Given the description of an element on the screen output the (x, y) to click on. 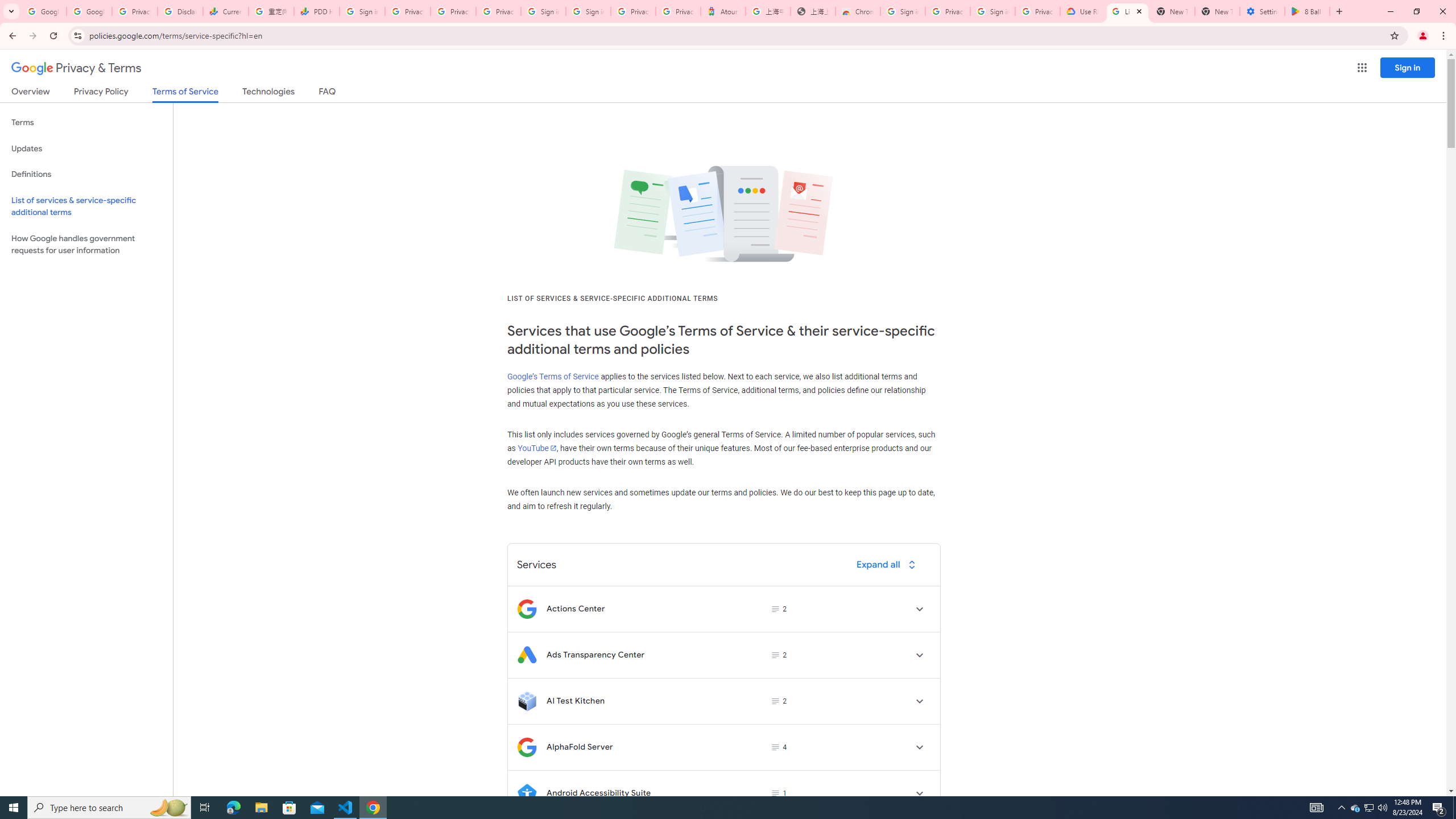
Logo for AI Test Kitchen (526, 700)
Atour Hotel - Google hotels (723, 11)
Privacy Checkup (452, 11)
Settings - System (1262, 11)
Sign in - Google Accounts (902, 11)
Sign in - Google Accounts (362, 11)
8 Ball Pool - Apps on Google Play (1307, 11)
Sign in - Google Accounts (542, 11)
Definitions (86, 174)
